Given the description of an element on the screen output the (x, y) to click on. 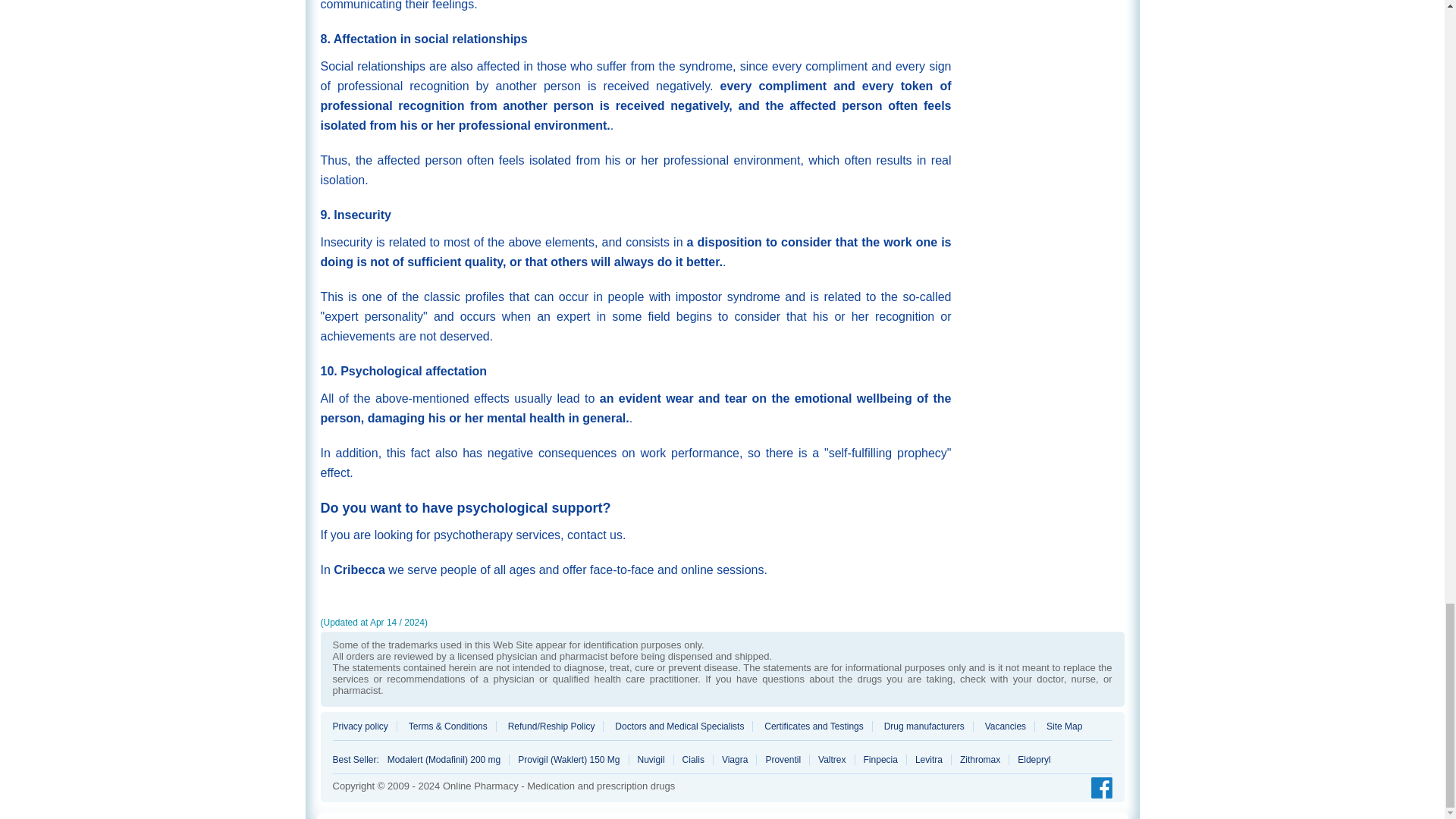
Cialis (693, 759)
Doctors and Medical Specialists (679, 726)
Zithromax (980, 759)
Valtrex (831, 759)
Eldepryl (1029, 759)
Finpecia (881, 759)
Viagra (735, 759)
Nuvigil (651, 759)
Vacancies (1005, 726)
Levitra (929, 759)
Drug manufacturers (925, 726)
Facebook (1097, 788)
Privacy policy (363, 726)
Certificates and Testings (813, 726)
Site Map (1059, 726)
